Given the description of an element on the screen output the (x, y) to click on. 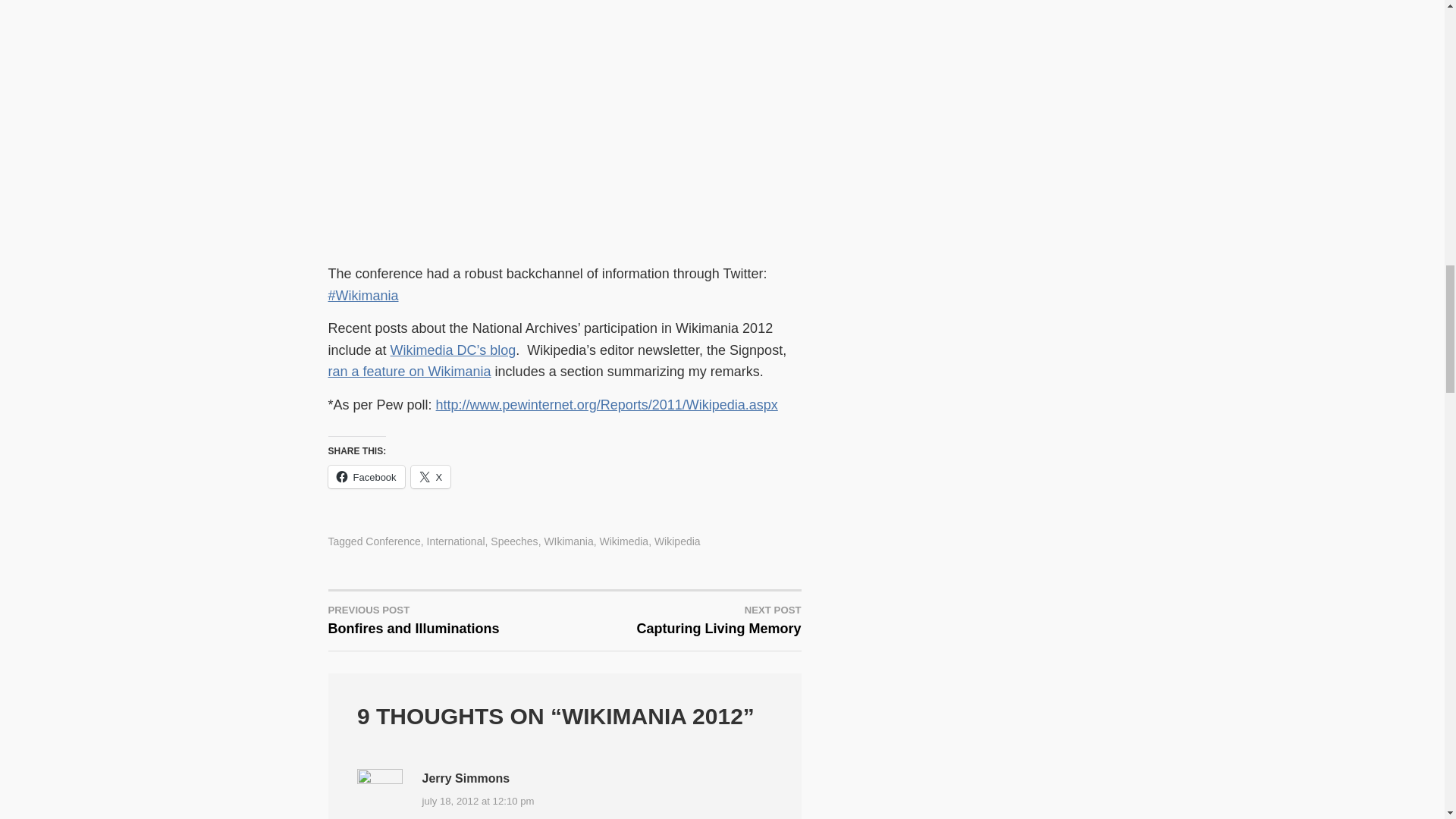
Speeches (513, 541)
Wikipedia (676, 541)
Click to share on Facebook (365, 477)
Facebook (445, 618)
International (365, 477)
X (682, 618)
Conference (455, 541)
WIkimania (430, 477)
ran a feature on Wikimania (392, 541)
july 18, 2012 at 12:10 pm (567, 541)
Click to share on X (408, 371)
Wikimedia (478, 801)
